Given the description of an element on the screen output the (x, y) to click on. 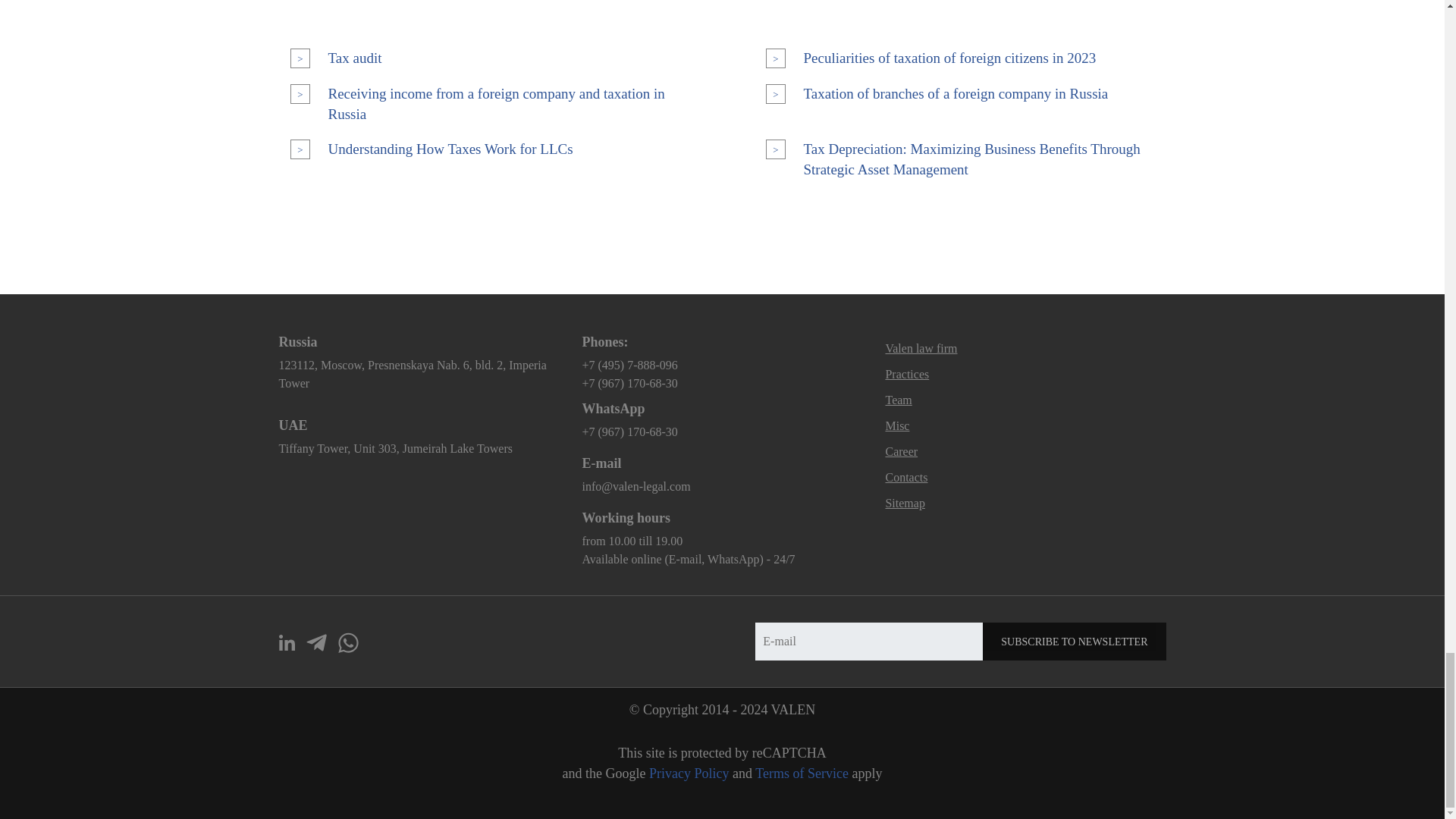
Subscribe to newsletter (1074, 641)
